Given the description of an element on the screen output the (x, y) to click on. 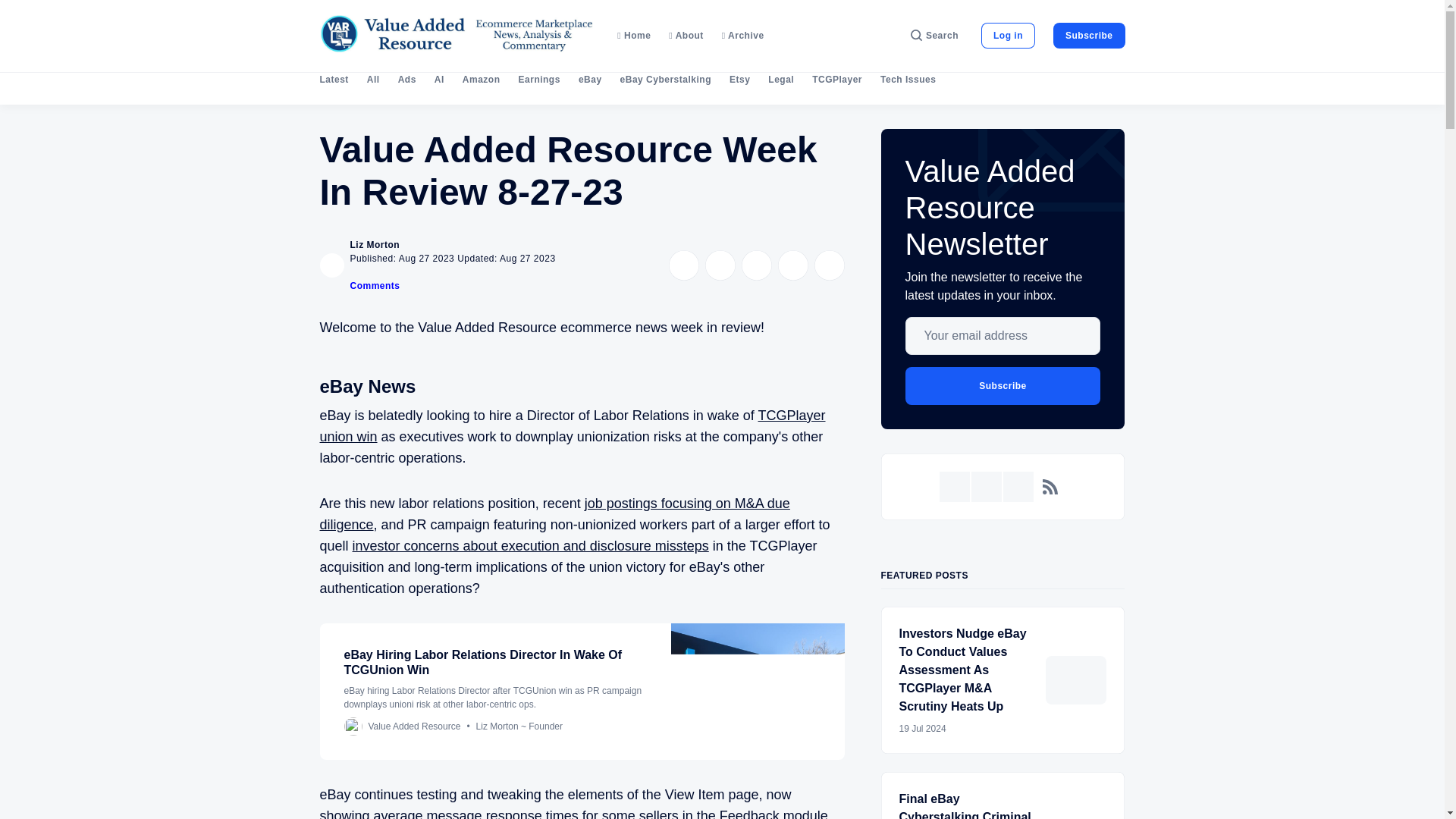
Share via Email (792, 265)
TCGPlayer union win (572, 425)
Copy link (828, 265)
Liz Morton (375, 244)
Log in (1008, 35)
Share on Twitter (683, 265)
Comments (375, 285)
Search (933, 35)
eBay Cyberstalking (665, 79)
